Given the description of an element on the screen output the (x, y) to click on. 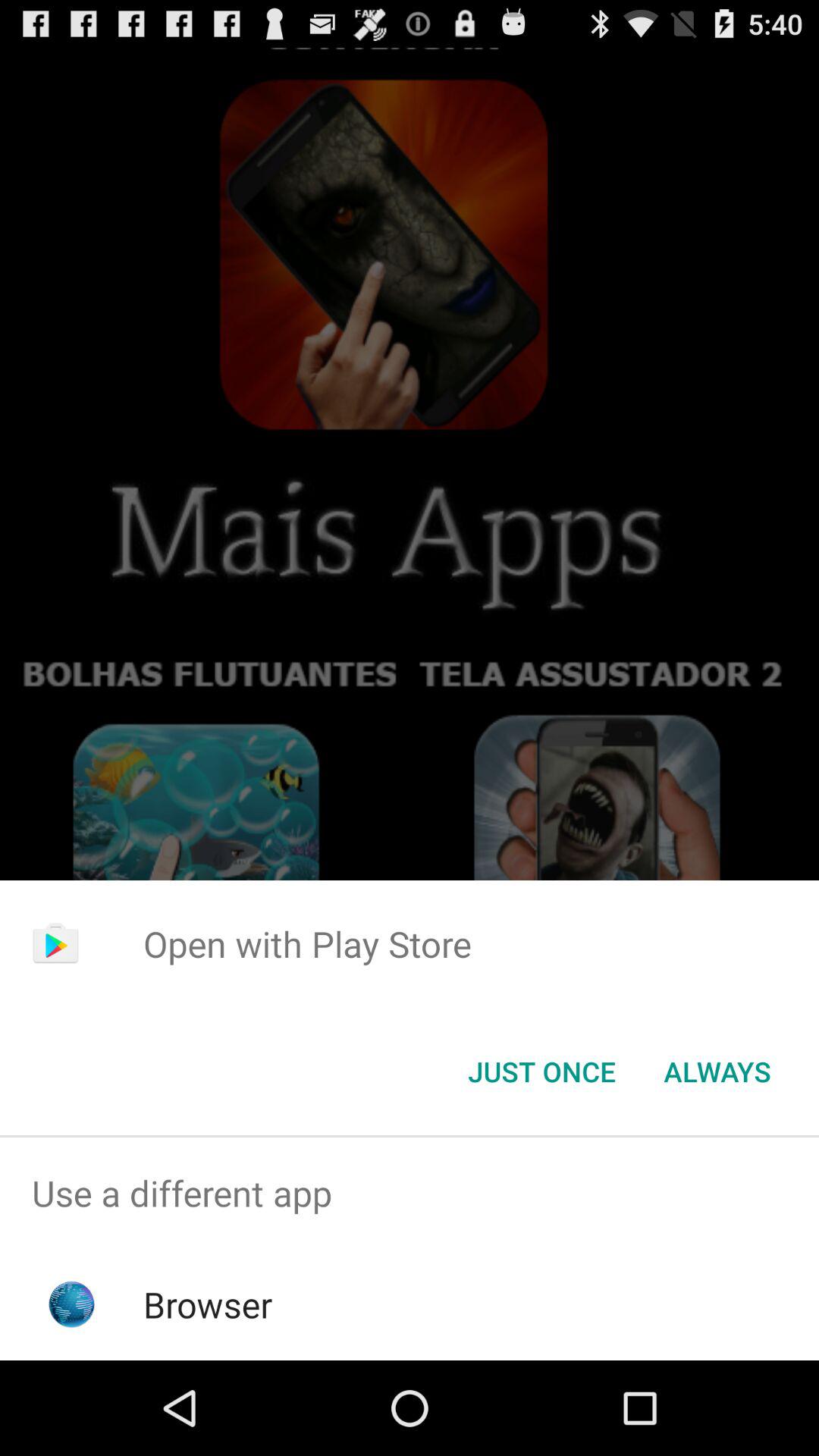
select the icon to the left of the always button (541, 1071)
